Given the description of an element on the screen output the (x, y) to click on. 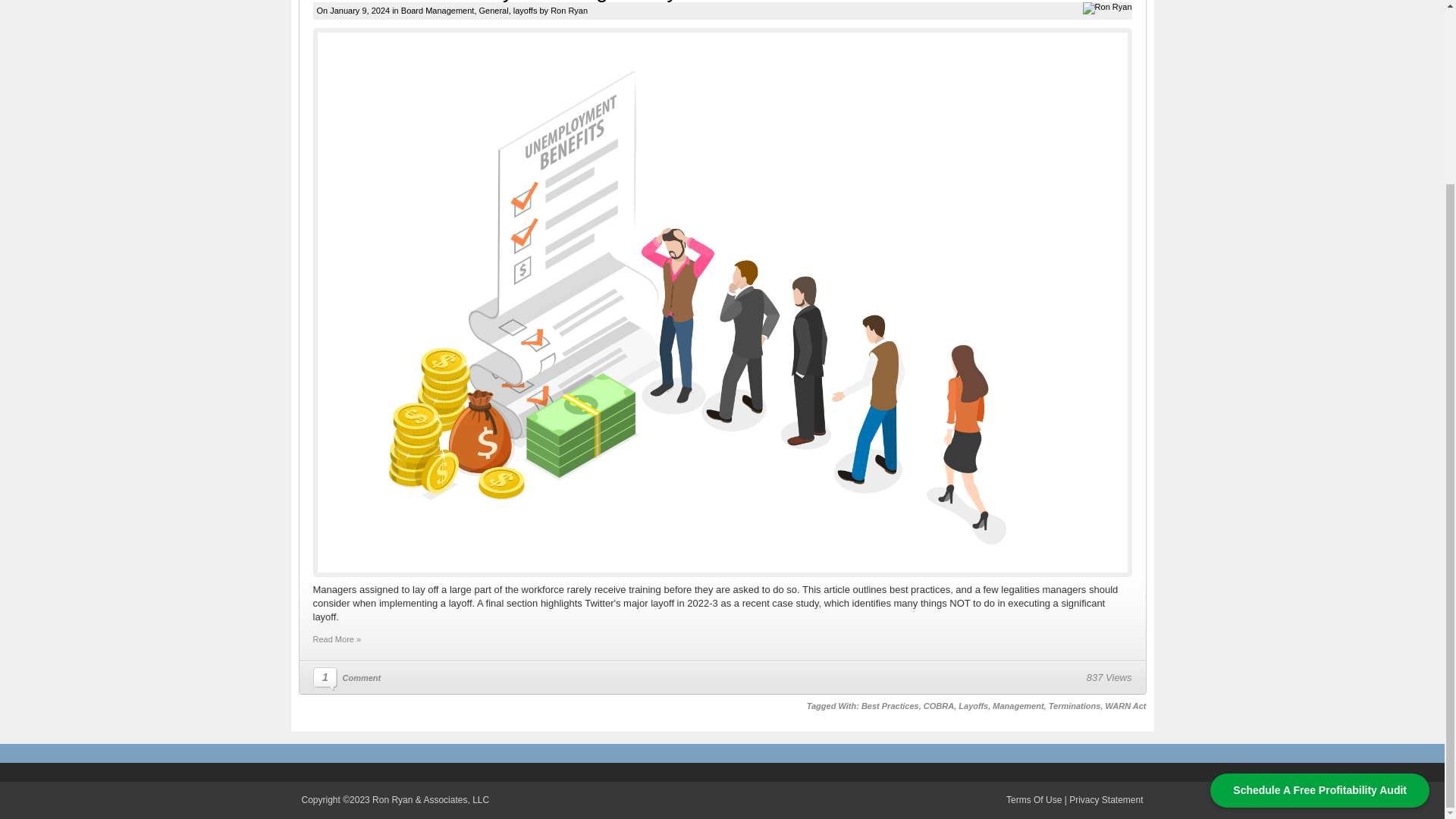
Privacy Statement (1105, 799)
Management (1017, 705)
COBRA (938, 705)
Comment (361, 677)
Terms Of Use (1033, 799)
Layoffs (973, 705)
Board Management (437, 10)
Ron Ryan (569, 10)
WARN Act (1126, 705)
General (493, 10)
layoffs (525, 10)
Best Practices (889, 705)
Terminations (1074, 705)
